Given the description of an element on the screen output the (x, y) to click on. 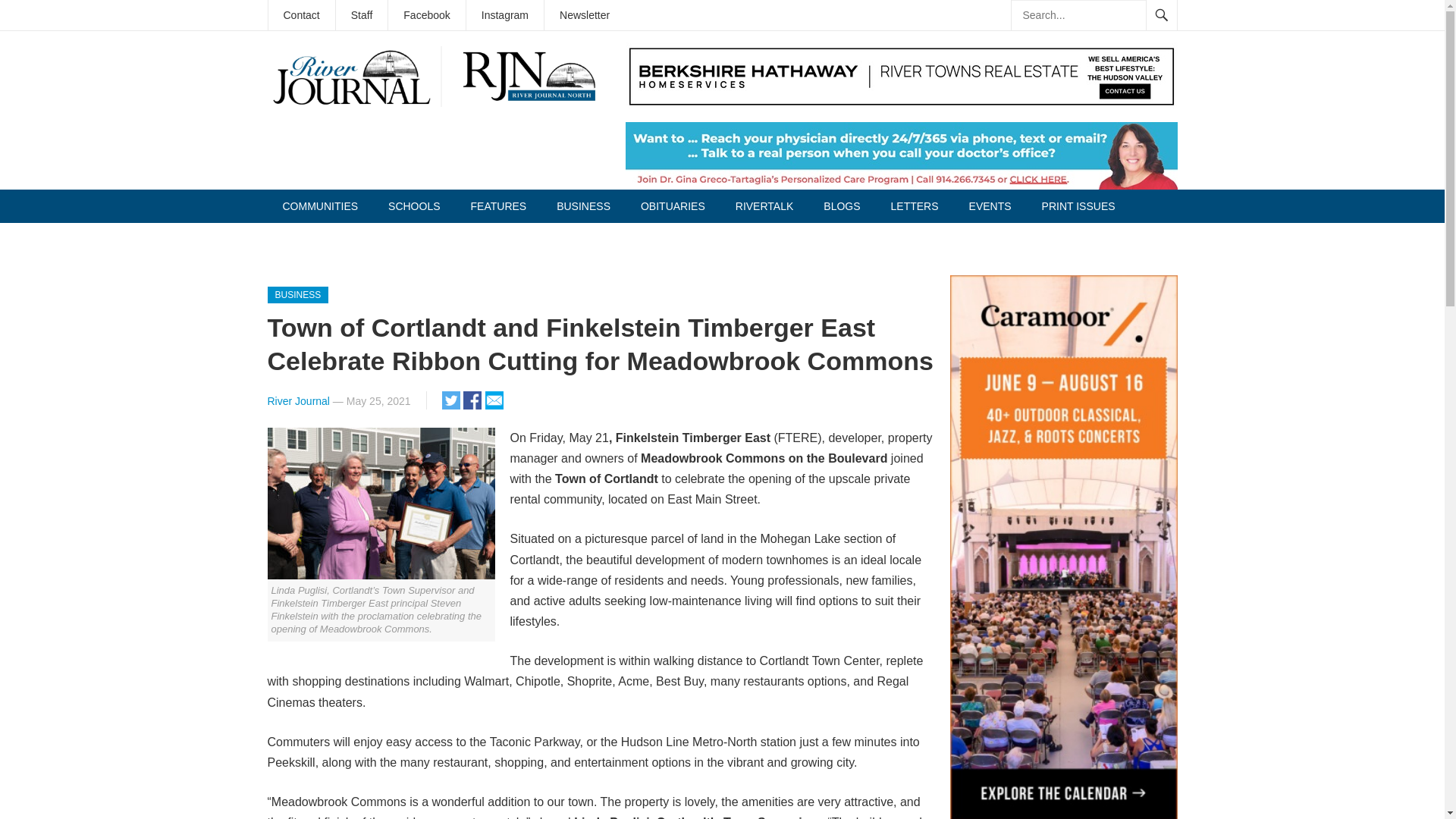
SCHOOLS (413, 205)
Instagram (504, 15)
Facebook (426, 15)
View all posts in Business (297, 294)
Staff (362, 15)
FEATURES (498, 205)
Posts by River Journal (297, 400)
BUSINESS (583, 205)
COMMUNITIES (319, 205)
Contact (300, 15)
Newsletter (584, 15)
